Given the description of an element on the screen output the (x, y) to click on. 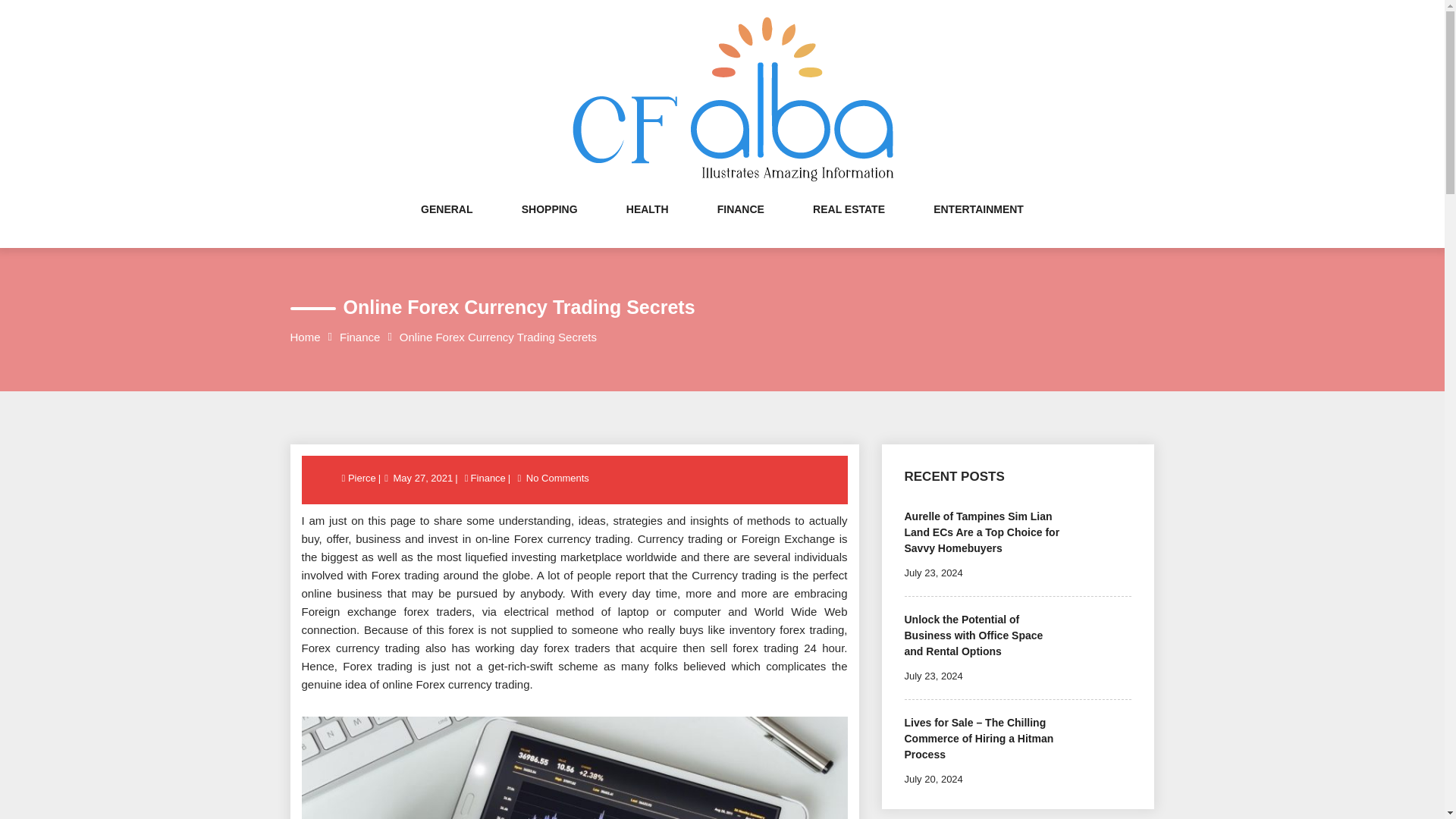
REAL ESTATE (848, 225)
Finance (359, 336)
No Comments (557, 478)
Finance (488, 478)
May 27, 2021 (423, 478)
GENERAL (445, 225)
Pierce (362, 478)
SHOPPING (549, 225)
HEALTH (647, 225)
Home (304, 336)
FINANCE (740, 225)
ENTERTAINMENT (978, 225)
